Given the description of an element on the screen output the (x, y) to click on. 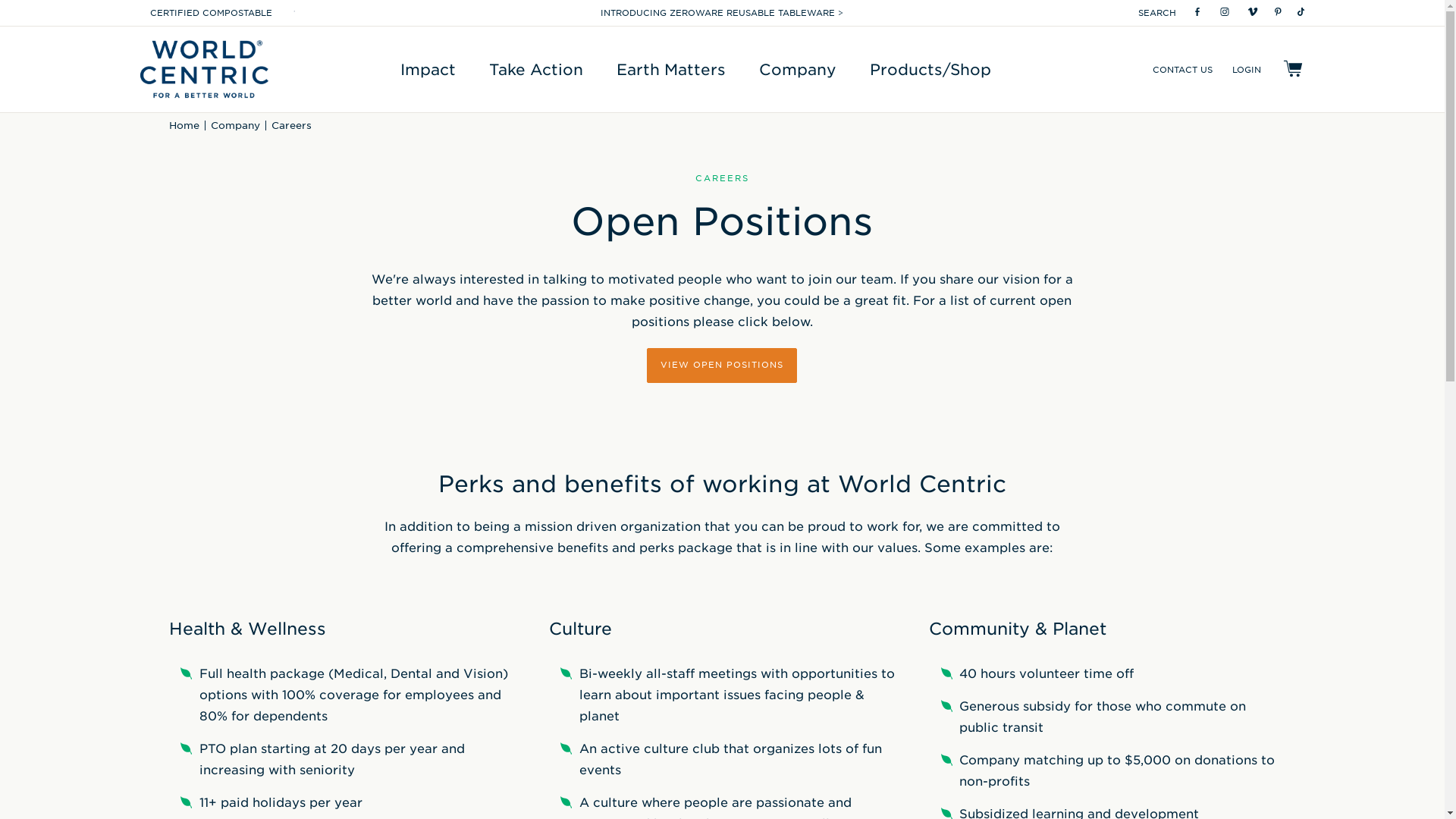
CERTIFIED COMPOSTABLE (210, 12)
SEARCH (1157, 12)
Impact (427, 68)
Company (796, 68)
Earth Matters (670, 68)
CONTACT US (1182, 68)
Take Action (536, 68)
